Given the description of an element on the screen output the (x, y) to click on. 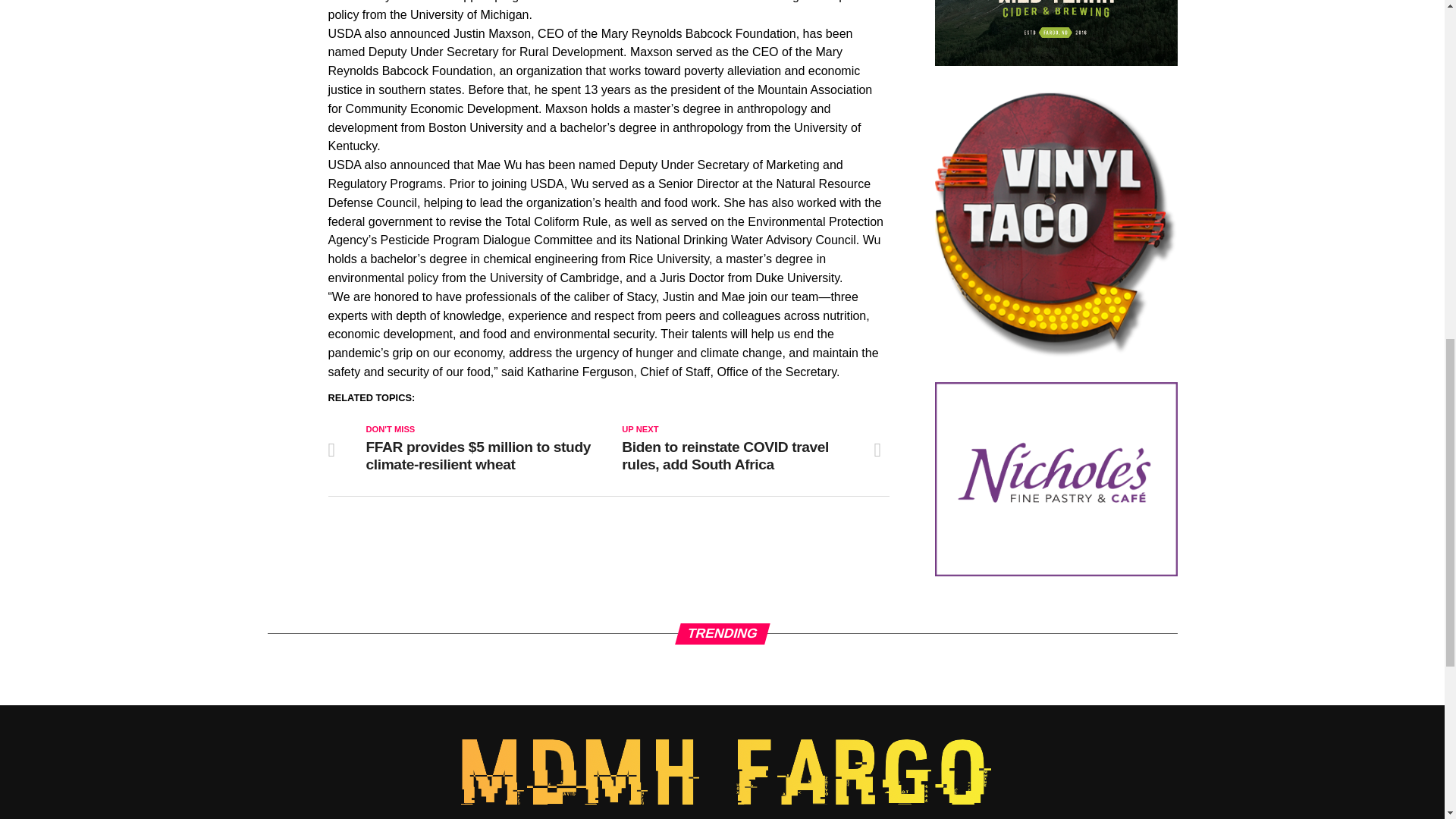
Advertisement (1055, 479)
